Given the description of an element on the screen output the (x, y) to click on. 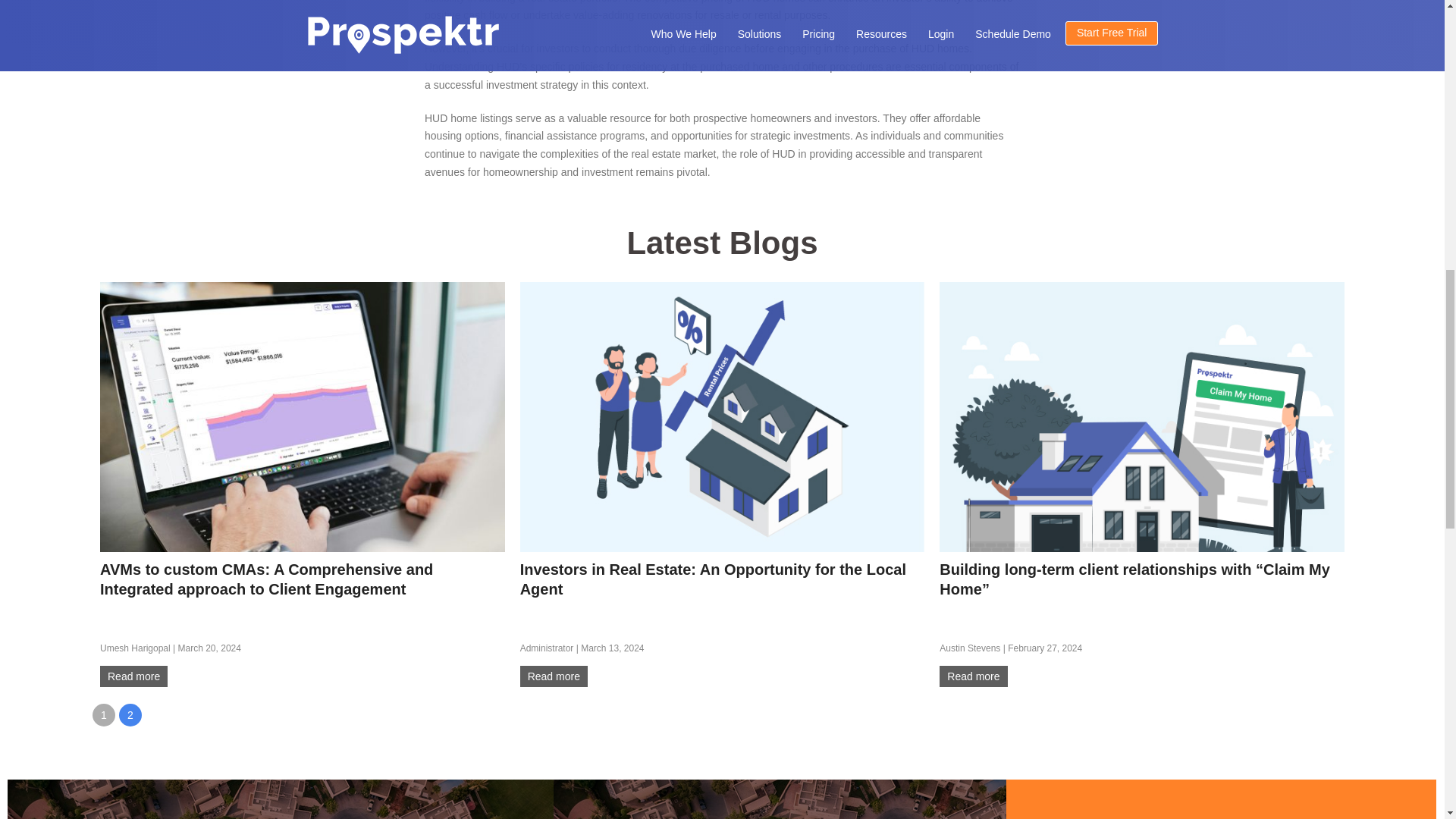
Investors in Real Estate: An Opportunity for the Local Agent (553, 676)
2 (130, 714)
Posts by Austin Stevens (969, 647)
Read more (133, 676)
Posts by Administrator (546, 647)
Read more (973, 676)
Umesh Harigopal (135, 647)
Investors in Real Estate: An Opportunity for the Local Agent (721, 416)
Investors in Real Estate: An Opportunity for the Local Agent (712, 579)
Posts by Umesh Harigopal (135, 647)
Read more (553, 676)
Austin Stevens (969, 647)
Administrator (546, 647)
